Given the description of an element on the screen output the (x, y) to click on. 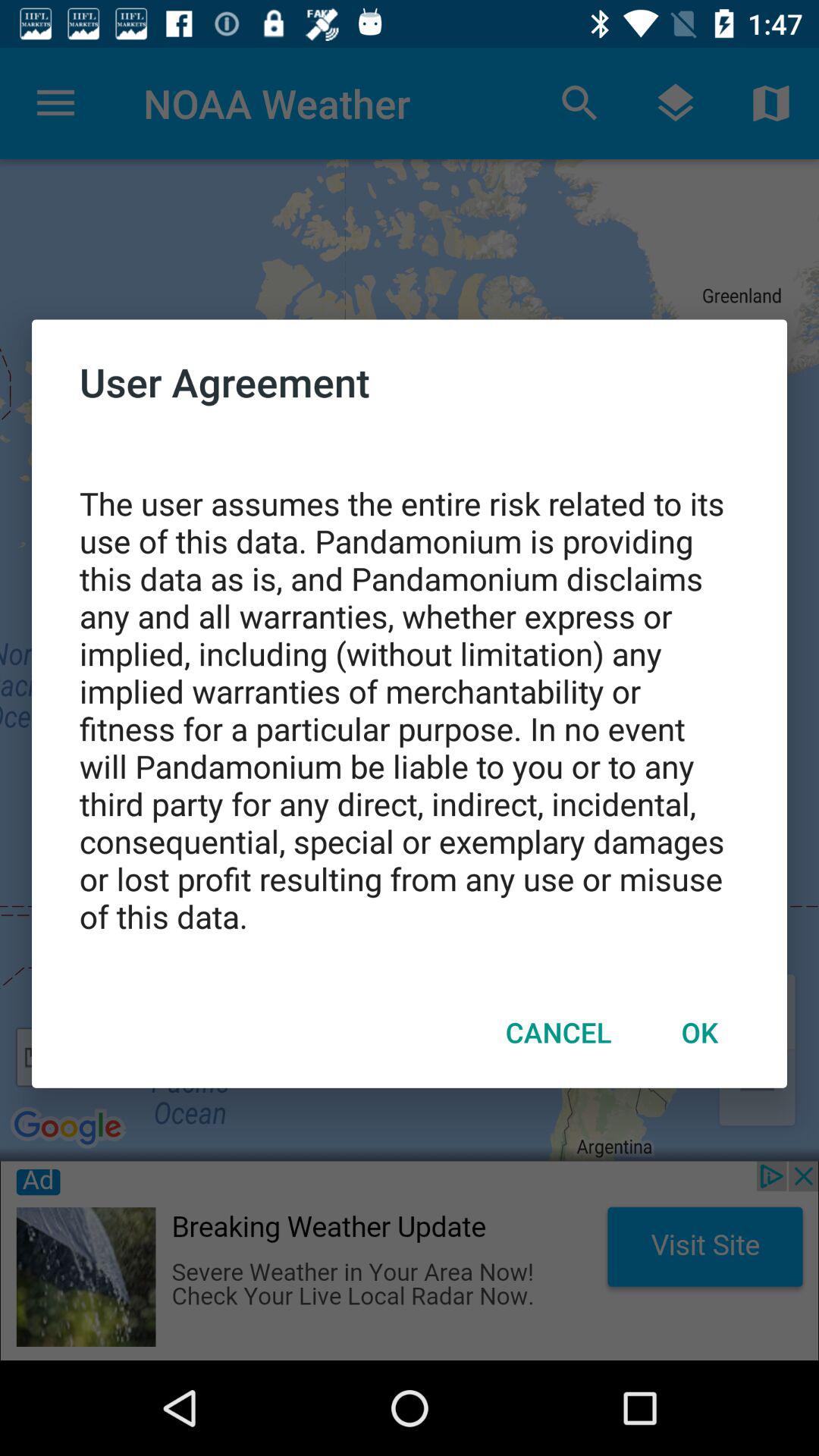
turn on the item next to cancel (699, 1032)
